Given the description of an element on the screen output the (x, y) to click on. 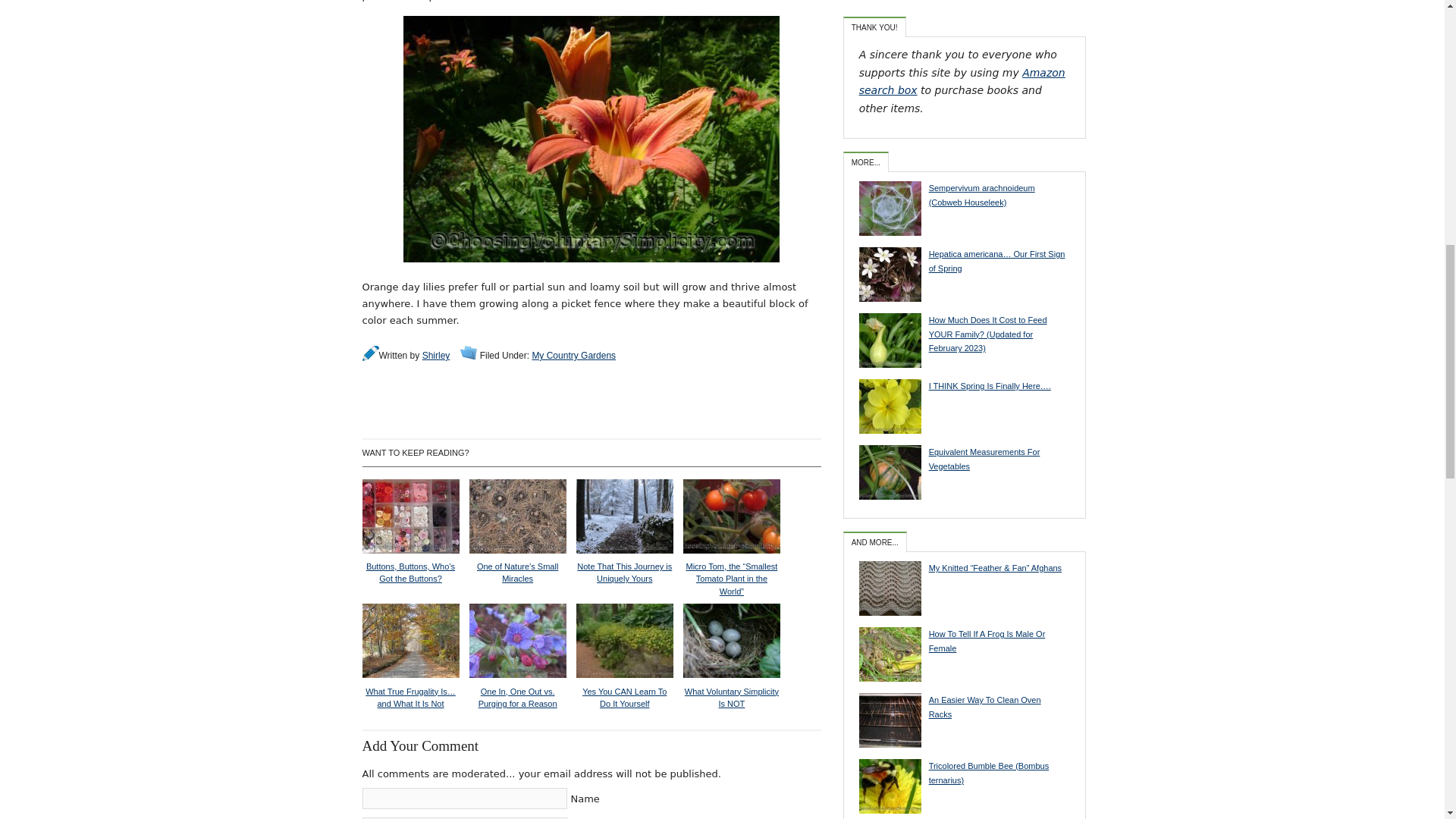
Yes You CAN Learn To Do It Yourself (624, 689)
One In, One Out vs. Purging for a Reason (517, 689)
Amazon search box (962, 81)
Note That This Journey is Uniquely Yours (624, 564)
What Voluntary Simplicity Is NOT (731, 689)
My Country Gardens (573, 355)
Equivalent Measurements For Vegetables (962, 459)
An Easier Way To Clean Oven Racks (962, 706)
How To Tell If A Frog Is Male Or Female (962, 641)
Shirley (435, 355)
